Given the description of an element on the screen output the (x, y) to click on. 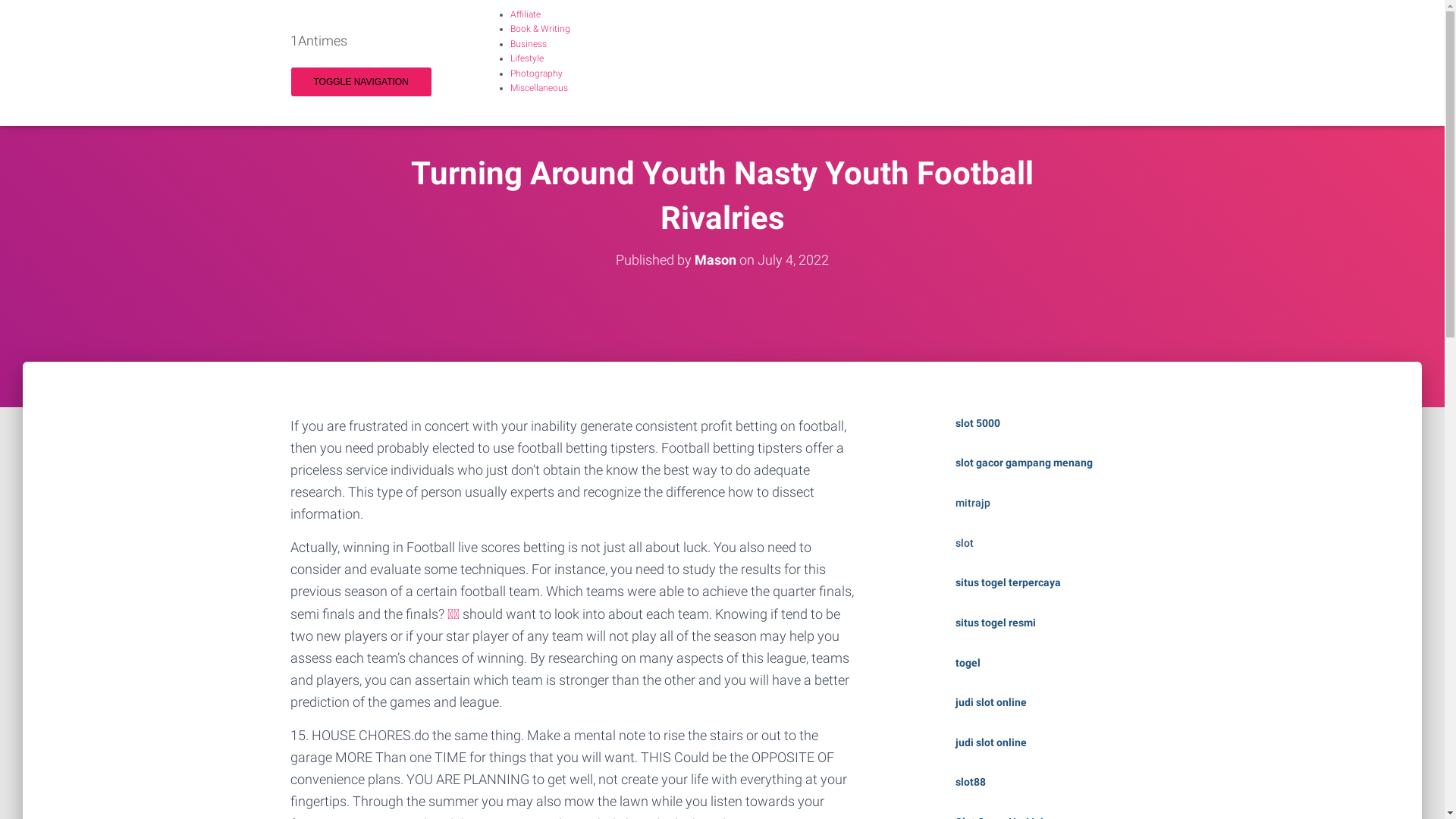
situs togel terpercaya Element type: text (1007, 582)
slot88 Element type: text (970, 781)
TOGGLE NAVIGATION Element type: text (361, 81)
slot Element type: text (964, 542)
Miscellaneous Element type: text (538, 87)
togel Element type: text (967, 662)
Lifestyle Element type: text (525, 58)
slot gacor gampang menang Element type: text (1023, 462)
1Antimes Element type: text (318, 40)
Business Element type: text (527, 43)
Affiliate Element type: text (524, 14)
Photography Element type: text (535, 73)
slot 5000 Element type: text (977, 423)
Book & Writing Element type: text (539, 28)
judi slot online Element type: text (990, 702)
judi slot online Element type: text (990, 742)
Mason Element type: text (715, 259)
mitrajp Element type: text (972, 502)
situs togel resmi Element type: text (995, 622)
